Given the description of an element on the screen output the (x, y) to click on. 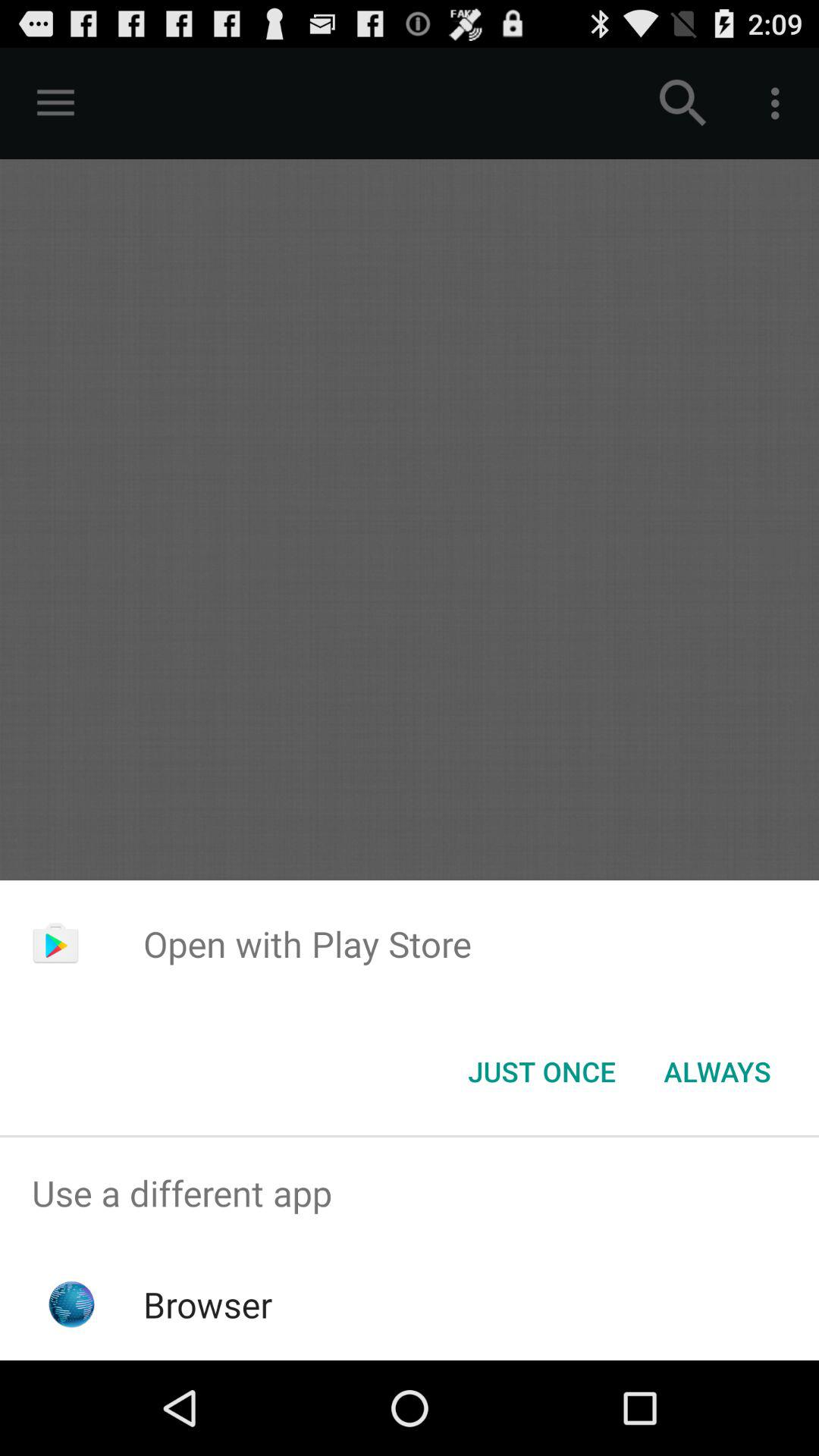
click use a different item (409, 1192)
